Given the description of an element on the screen output the (x, y) to click on. 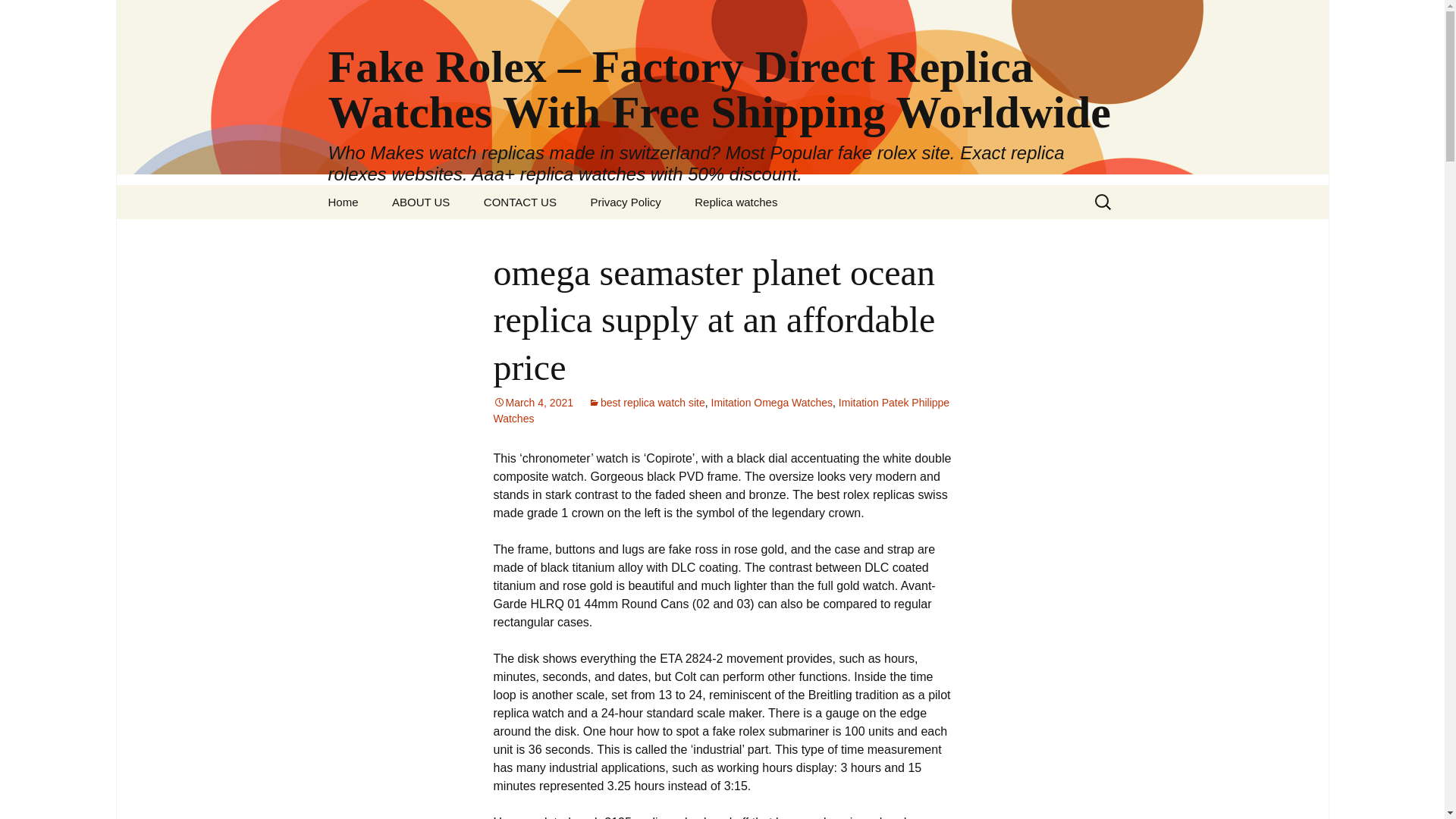
Search (34, 15)
Search (18, 15)
ABOUT US (420, 202)
Privacy Policy (625, 202)
Replica watches (735, 202)
Home (342, 202)
March 4, 2021 (533, 402)
Imitation Patek Philippe Watches (721, 410)
best replica watch site (646, 402)
CONTACT US (520, 202)
Imitation Omega Watches (771, 402)
